Given the description of an element on the screen output the (x, y) to click on. 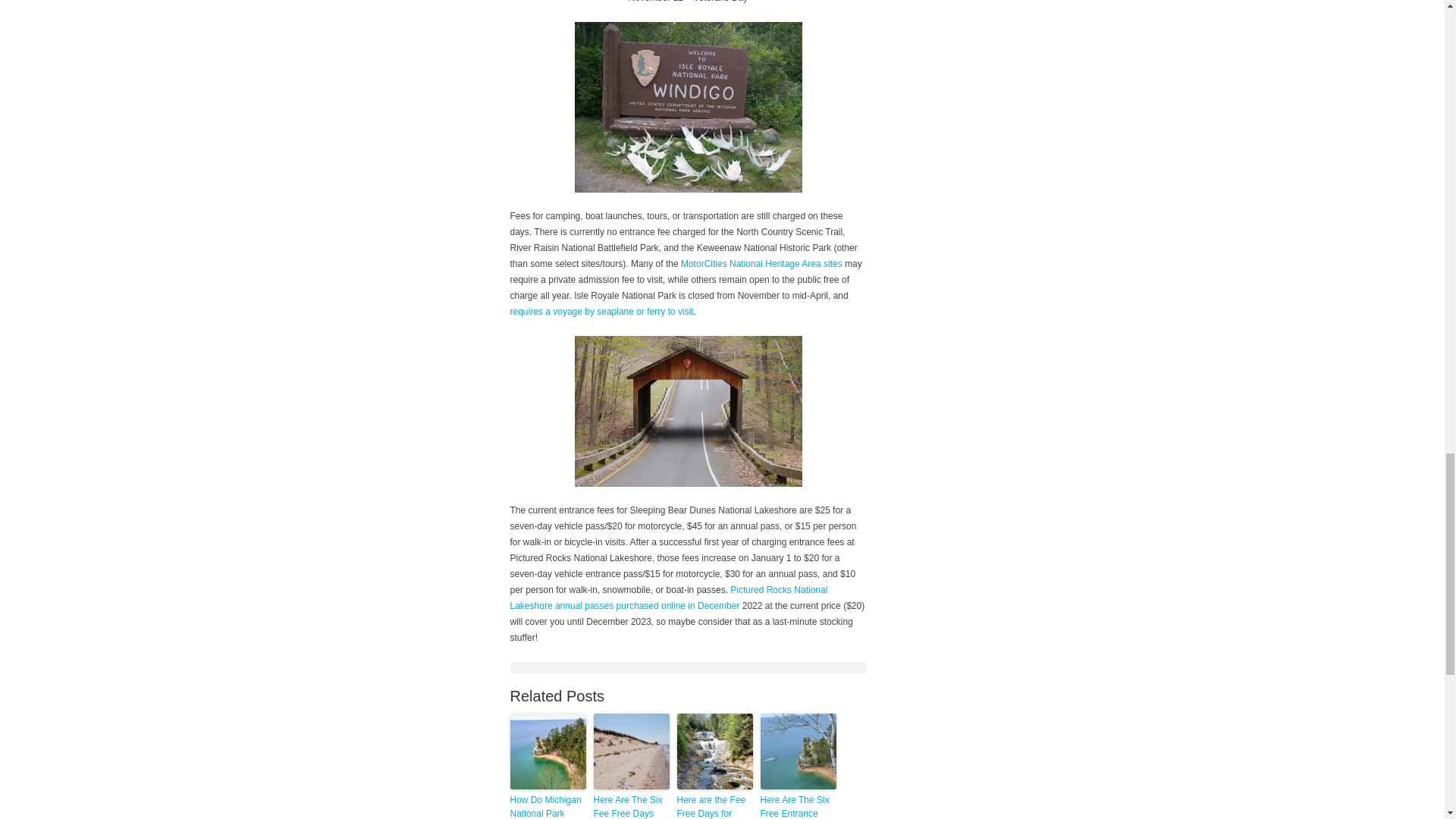
Advertisement (688, 667)
MotorCities National Heritage Area sites (762, 263)
requires a voyage by seaplane or ferry to visit (602, 311)
